Given the description of an element on the screen output the (x, y) to click on. 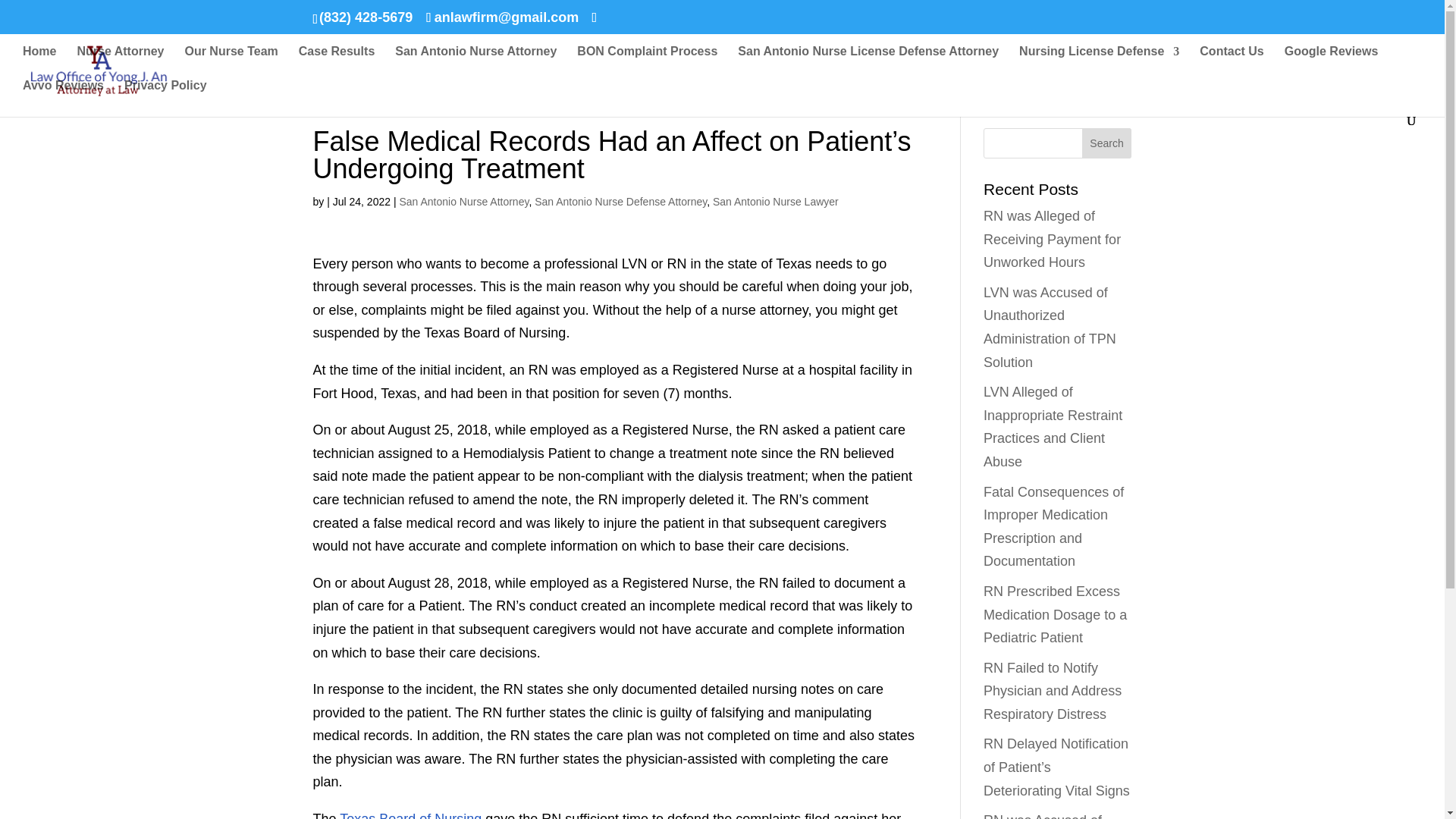
San Antonio Nurse Attorney (475, 62)
BON Complaint Process (646, 62)
Search (1106, 142)
Our Nurse Team (231, 62)
Home (39, 62)
Nurse Attorney (120, 62)
Nursing License Defense (1099, 62)
San Antonio Nurse License Defense Attorney (868, 62)
Case Results (336, 62)
